Given the description of an element on the screen output the (x, y) to click on. 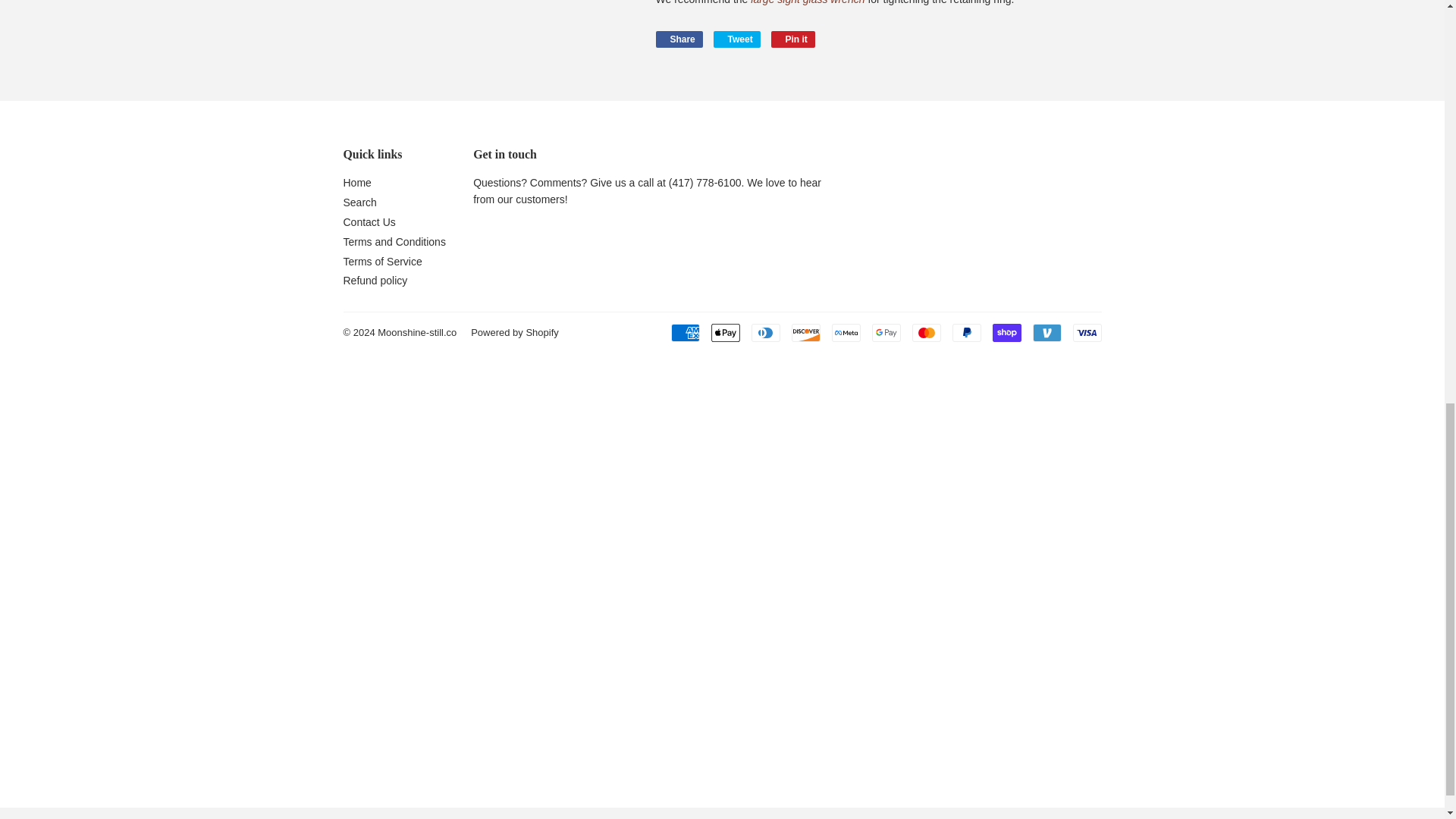
Large Sight Glass Wrench (807, 2)
Venmo (1046, 332)
Tweet on Twitter (736, 39)
PayPal (966, 332)
Discover (806, 332)
Pin on Pinterest (793, 39)
American Express (683, 332)
Diners Club (764, 332)
Apple Pay (725, 332)
Visa (1085, 332)
